Given the description of an element on the screen output the (x, y) to click on. 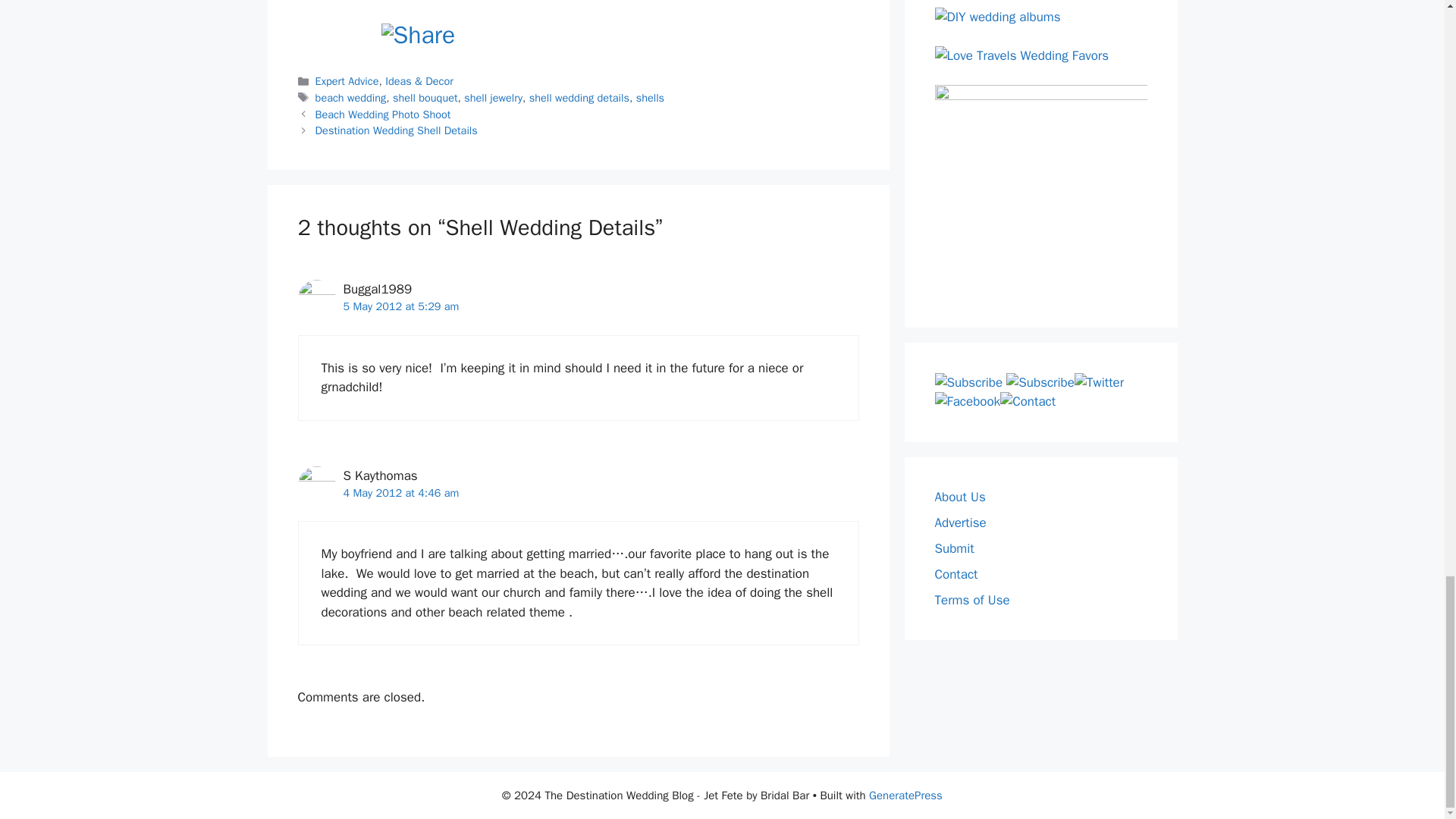
shells (649, 97)
4 May 2012 at 4:46 am (400, 492)
Expert Advice (346, 80)
beach wedding (351, 97)
Beach Wedding Photo Shoot (383, 114)
shell wedding details (578, 97)
shell jewelry (493, 97)
Stingray City, Grand Cayman Trash the Dress (602, 3)
5 May 2012 at 5:29 am (400, 305)
Valentine's Day Weddings (358, 3)
Destination Wedding Shell Details (396, 130)
shell bouquet (425, 97)
Warm Up with These Winter Cocktails (725, 3)
